Given the description of an element on the screen output the (x, y) to click on. 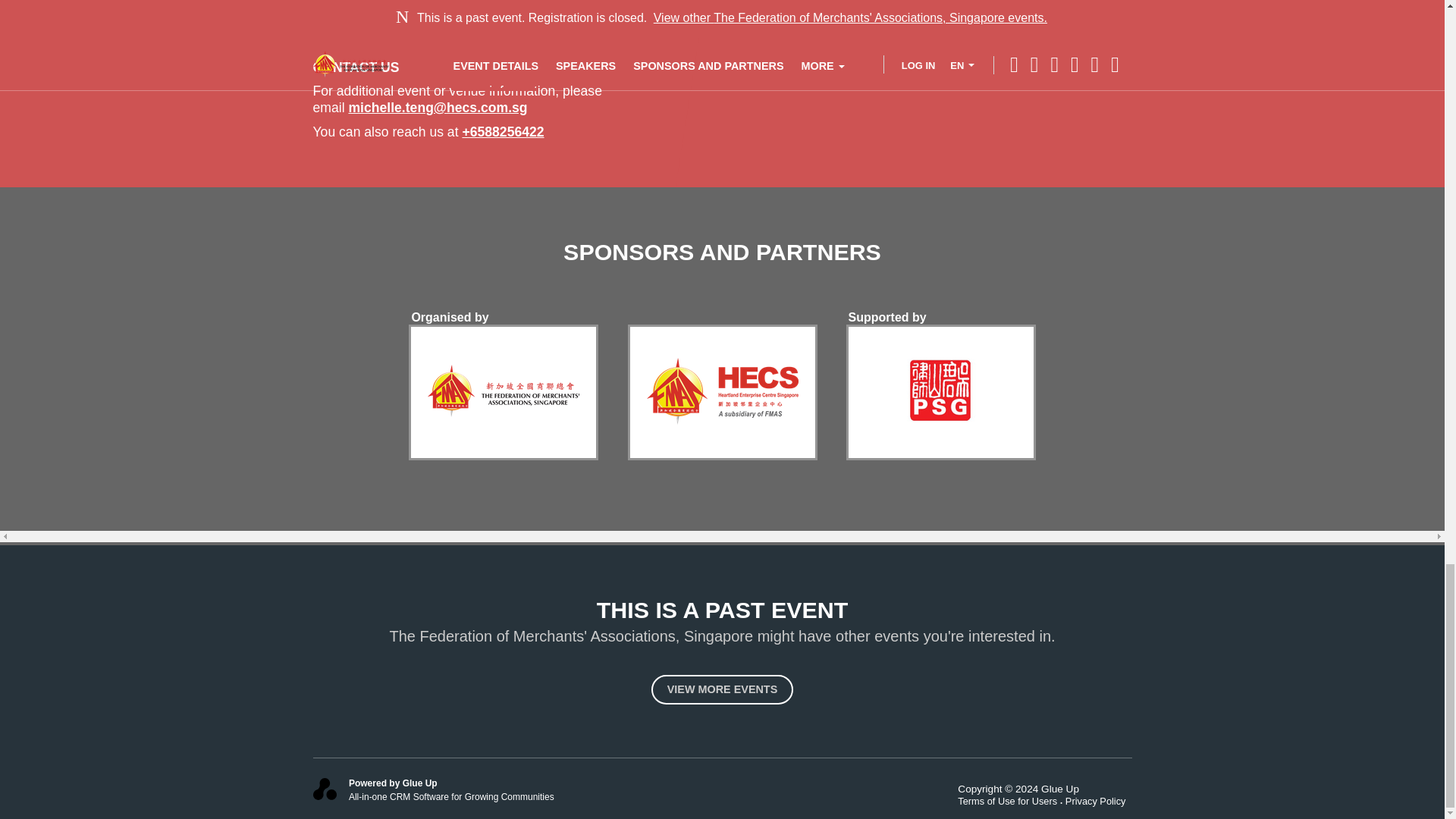
SEE ROUTE (358, 13)
VIEW MORE EVENTS (721, 689)
Supported by (887, 317)
Terms of Use for Users (1011, 800)
Privacy Policy (1098, 800)
Organised by (448, 317)
